Given the description of an element on the screen output the (x, y) to click on. 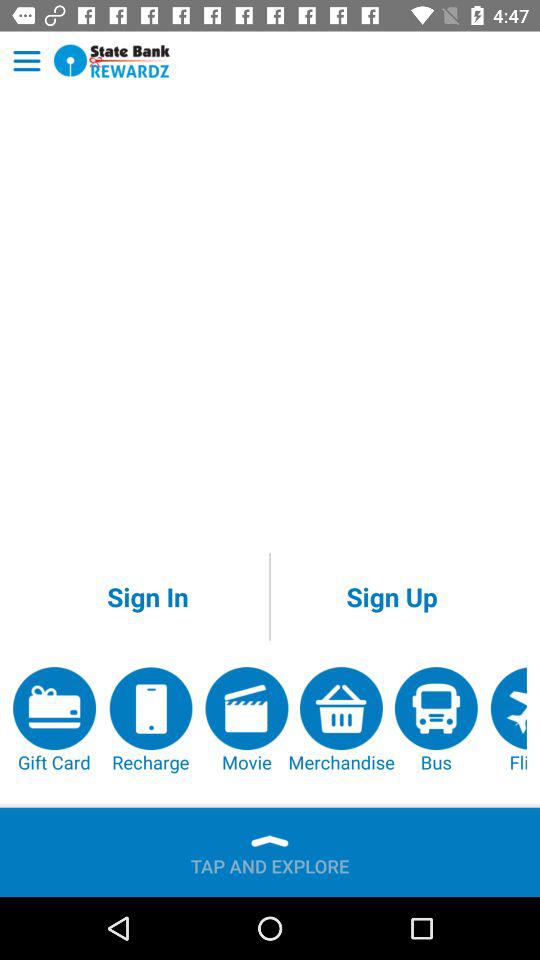
open the recharge icon (150, 720)
